Given the description of an element on the screen output the (x, y) to click on. 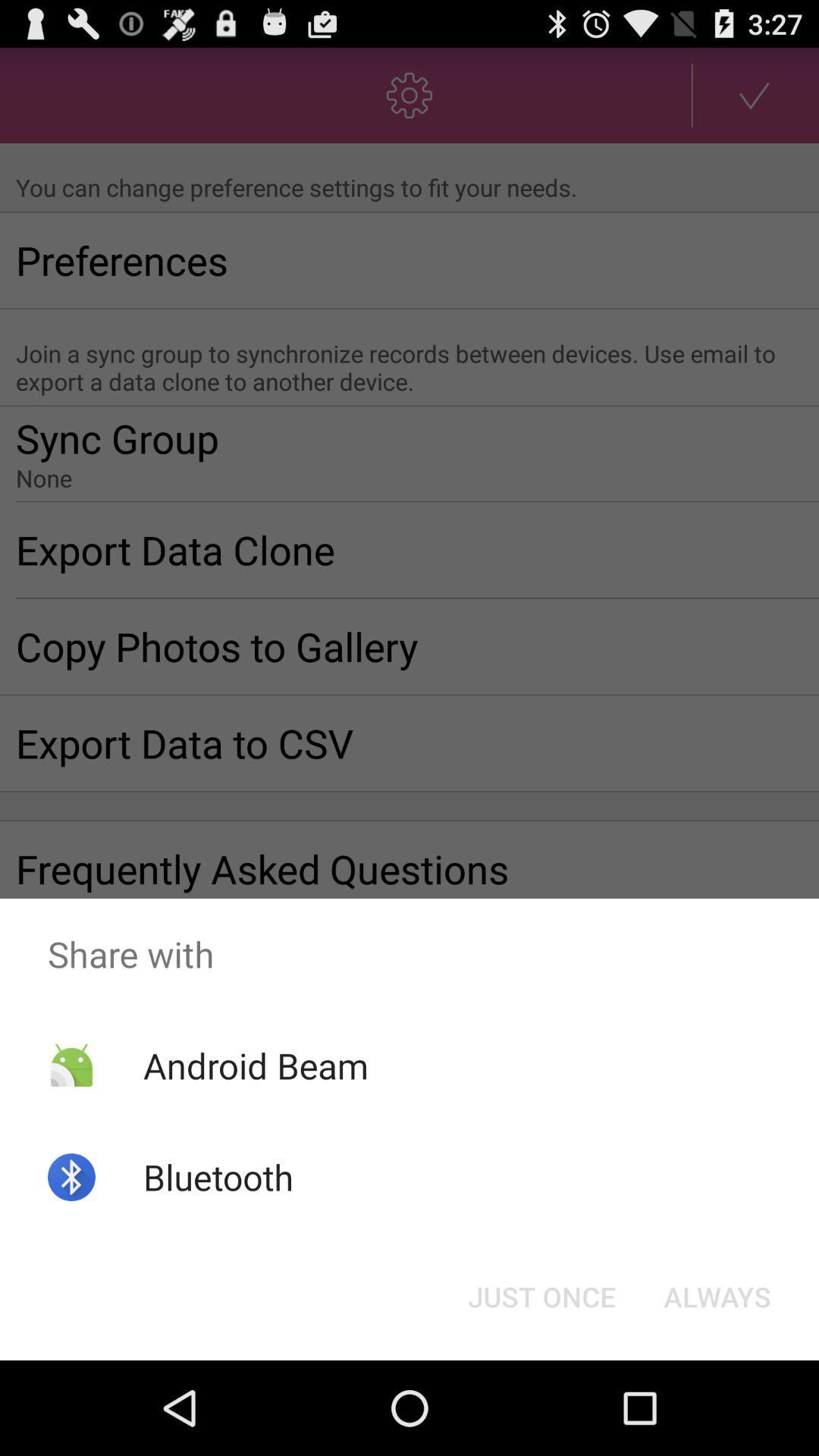
click button at the bottom (541, 1296)
